Given the description of an element on the screen output the (x, y) to click on. 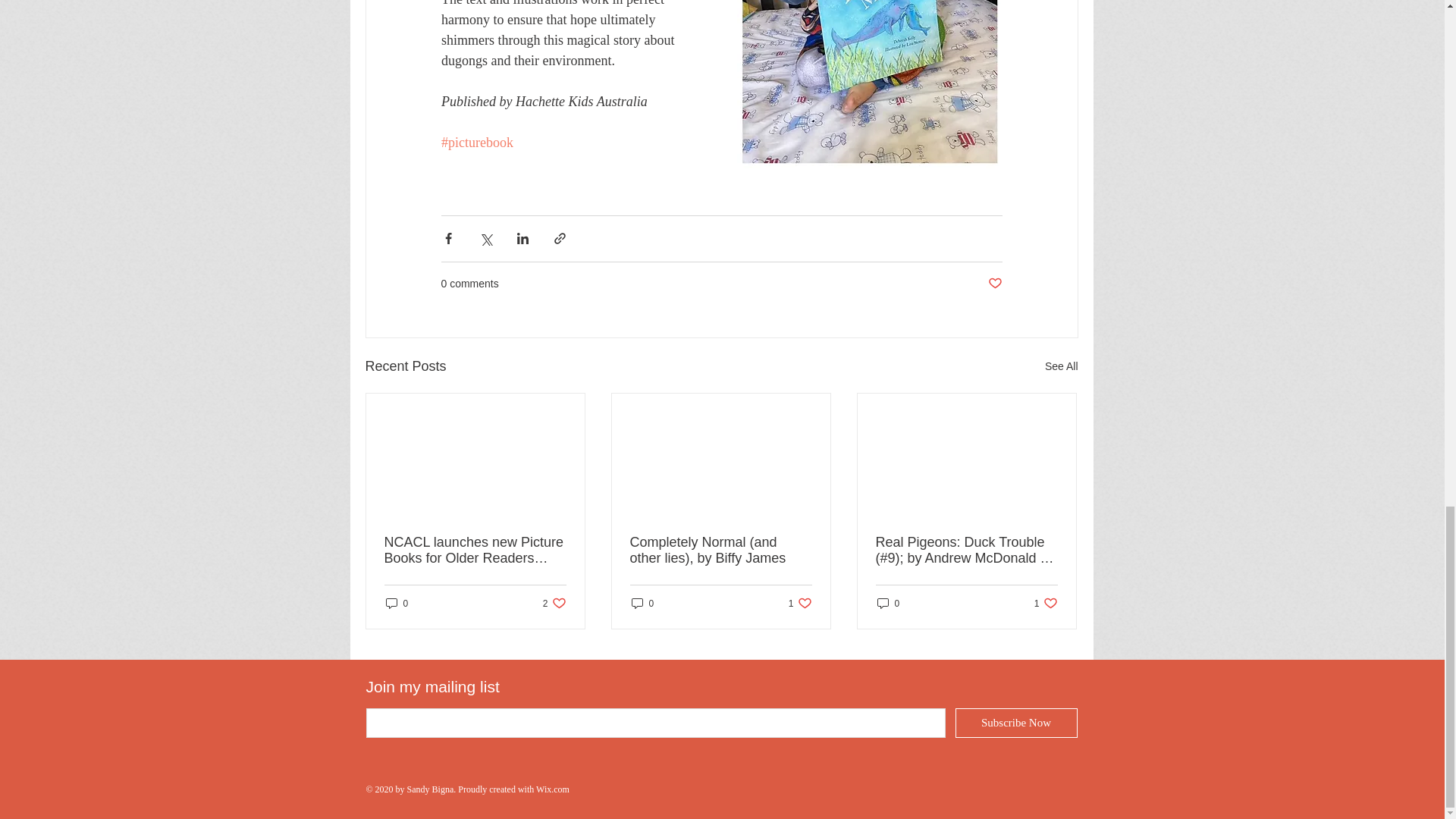
See All (1061, 366)
0 (1045, 603)
Post not marked as liked (800, 603)
0 (888, 603)
Subscribe Now (994, 283)
0 (641, 603)
Wix.com (554, 603)
